Given the description of an element on the screen output the (x, y) to click on. 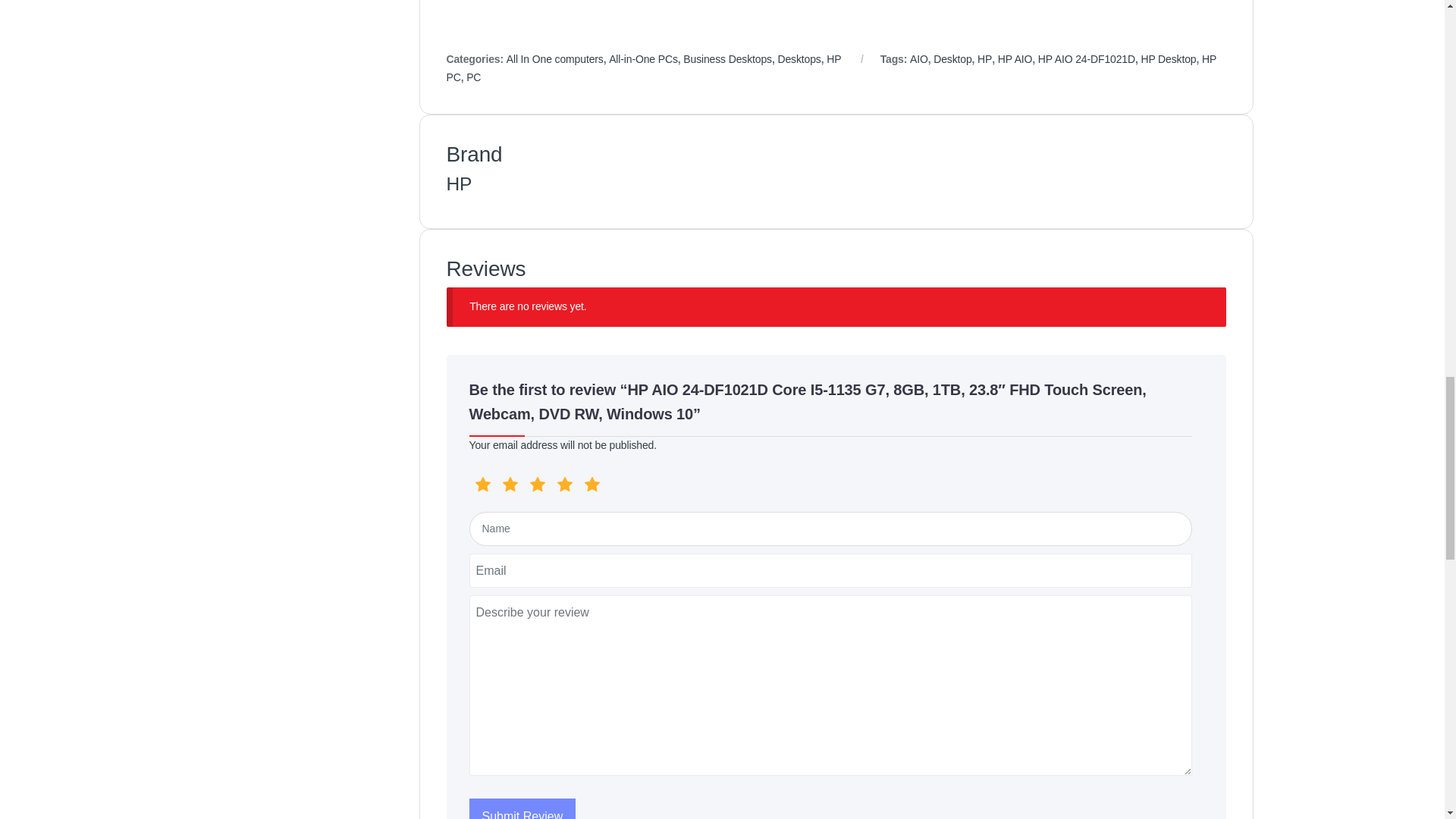
5 (473, 480)
1 (473, 480)
3 (473, 480)
2 (473, 480)
4 (473, 480)
Submit Review (521, 808)
